Given the description of an element on the screen output the (x, y) to click on. 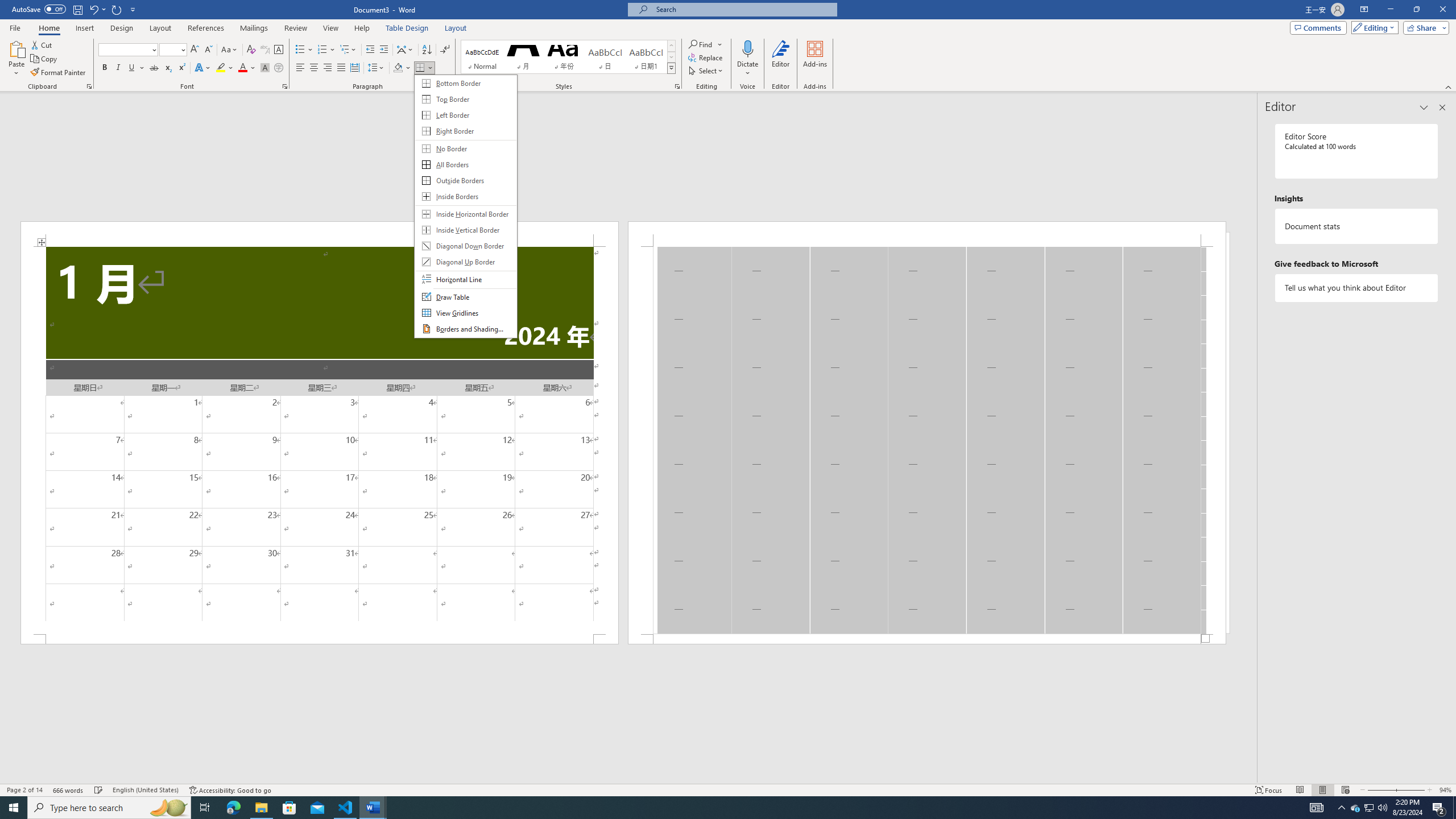
Font Color RGB(255, 0, 0) (241, 67)
